Given the description of an element on the screen output the (x, y) to click on. 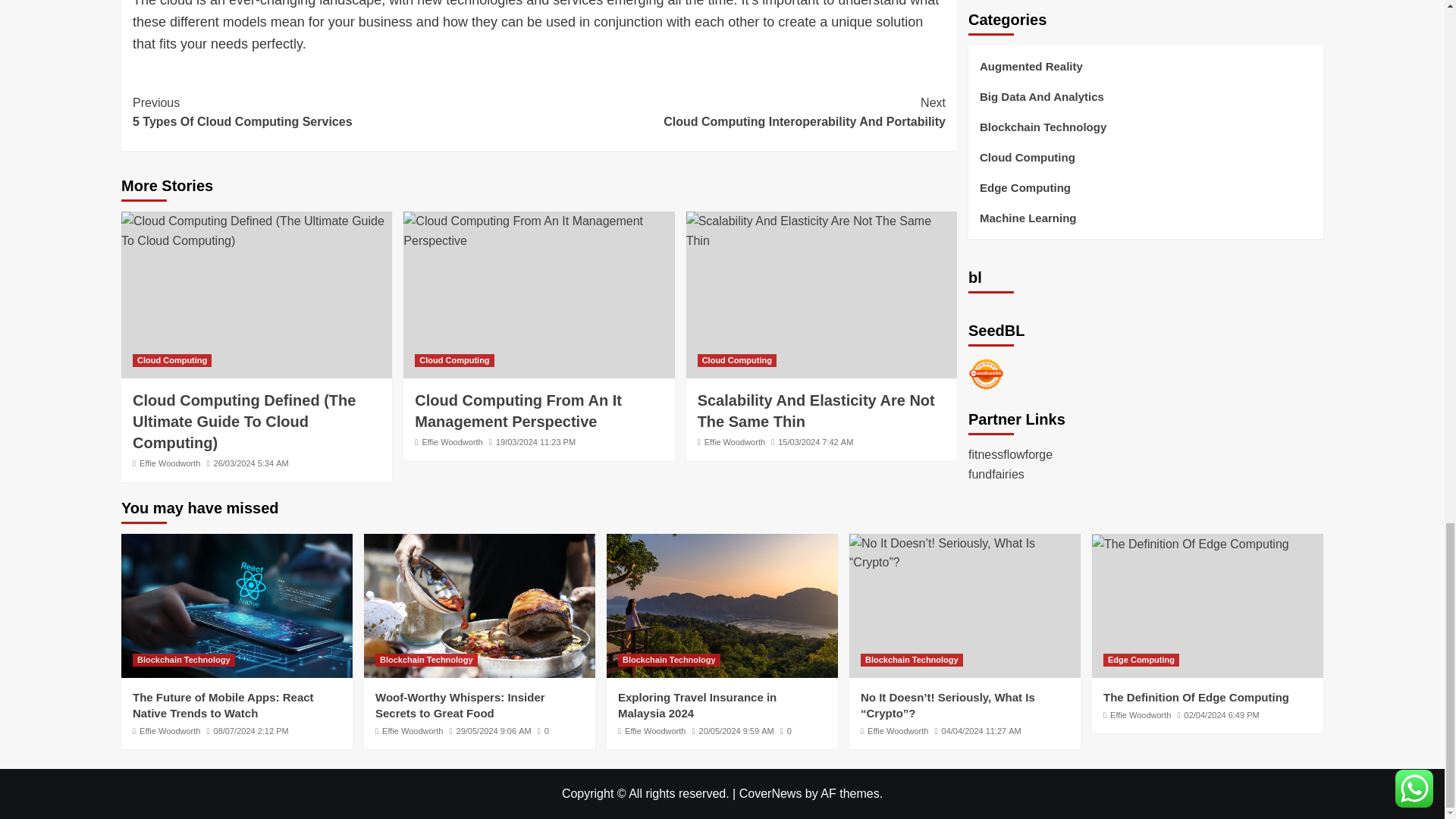
Cloud Computing From An It Management Perspective (538, 230)
Effie Woodworth (335, 112)
Cloud Computing (169, 462)
Scalability And Elasticity Are Not The Same Thin (171, 359)
